Given the description of an element on the screen output the (x, y) to click on. 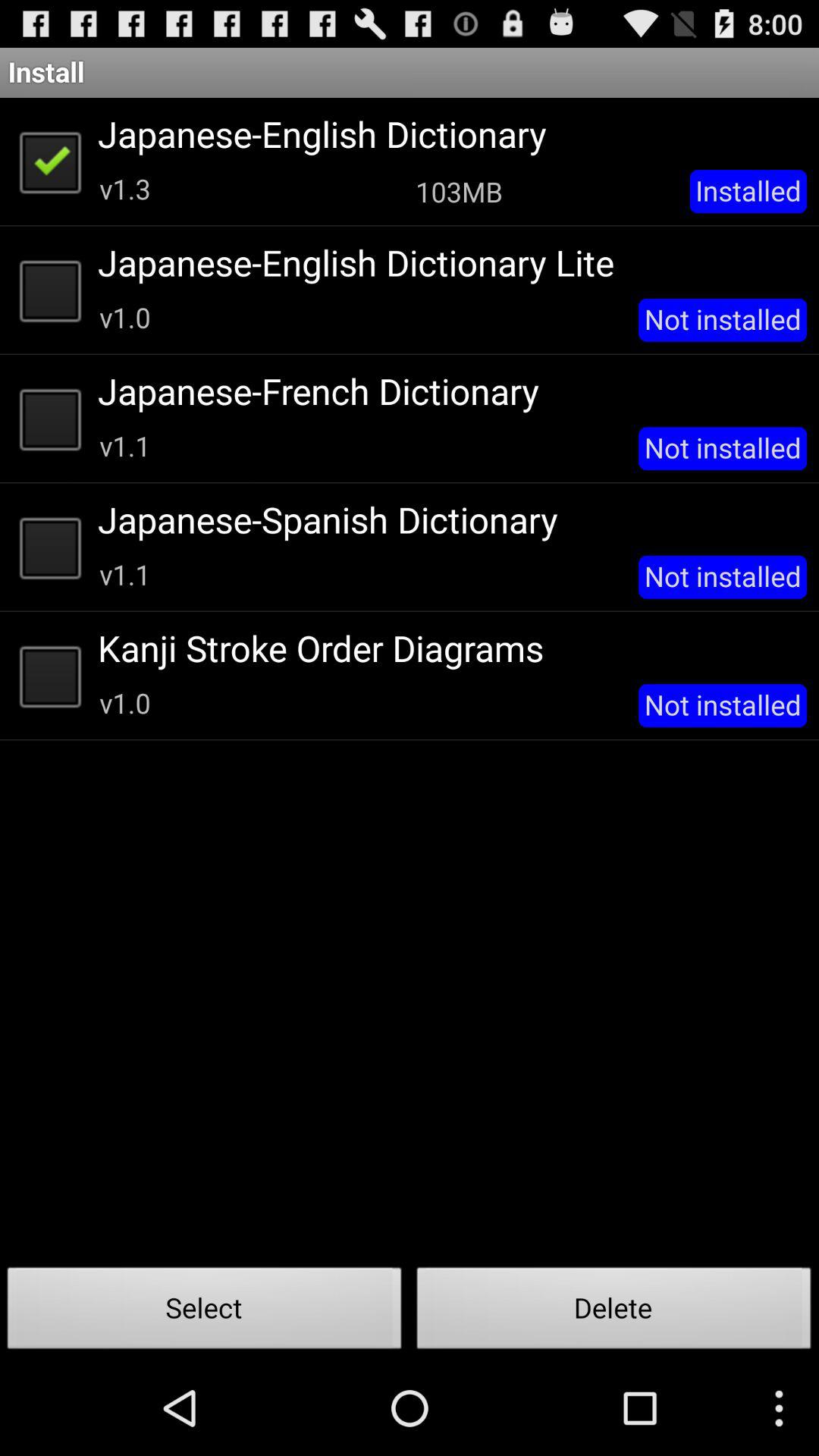
open icon above v1.0 icon (447, 647)
